Given the description of an element on the screen output the (x, y) to click on. 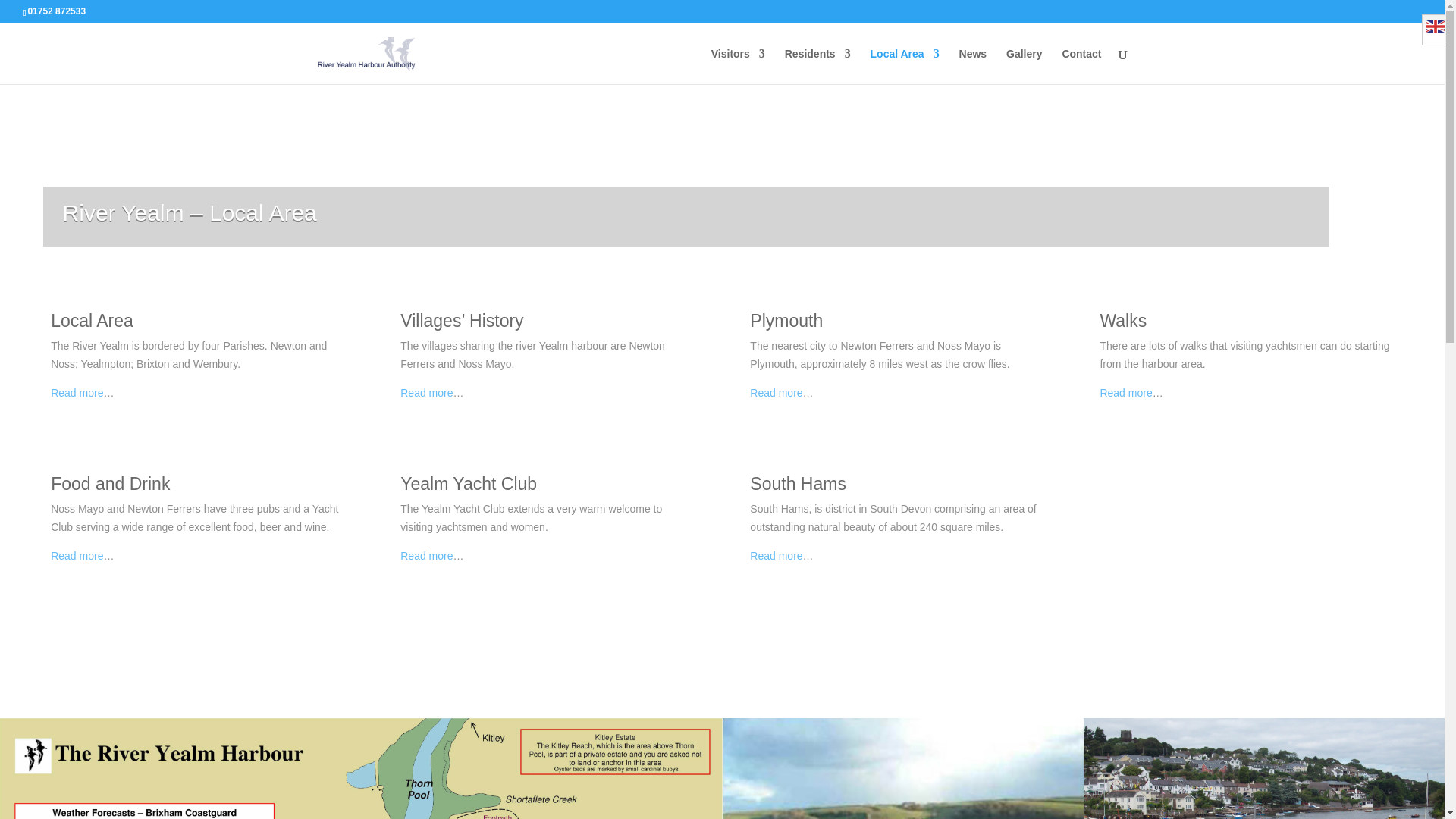
Residents (817, 66)
Local Area (904, 66)
Visitors (738, 66)
